Given the description of an element on the screen output the (x, y) to click on. 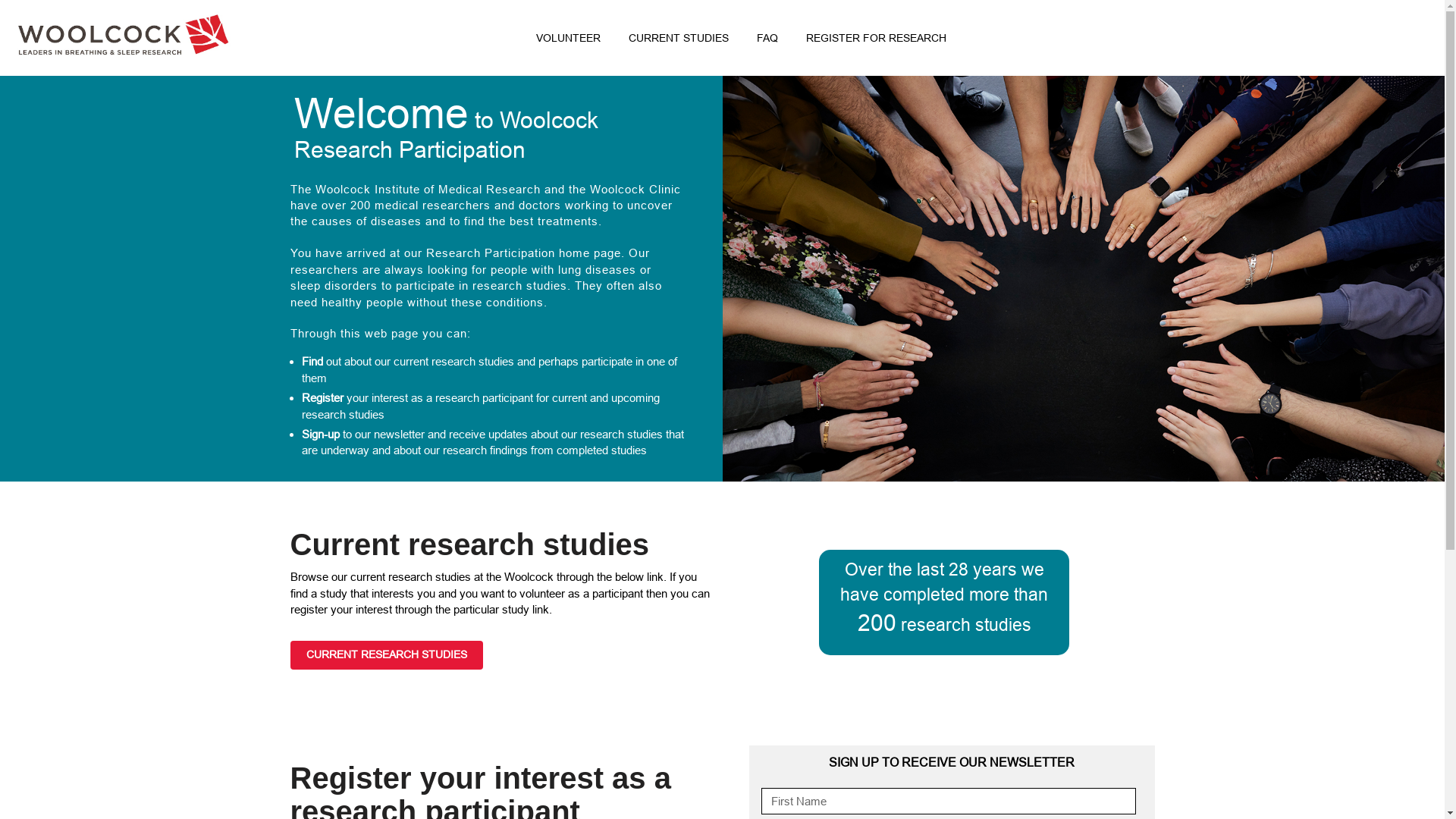
First Name is a required field. Element type: hover (948, 800)
REGISTER FOR RESEARCH Element type: text (875, 40)
CURRENT STUDIES Element type: text (678, 40)
CURRENT RESEARCH STUDIES Element type: text (385, 654)
FAQ Element type: text (767, 40)
VOLUNTEER Element type: text (567, 40)
